Given the description of an element on the screen output the (x, y) to click on. 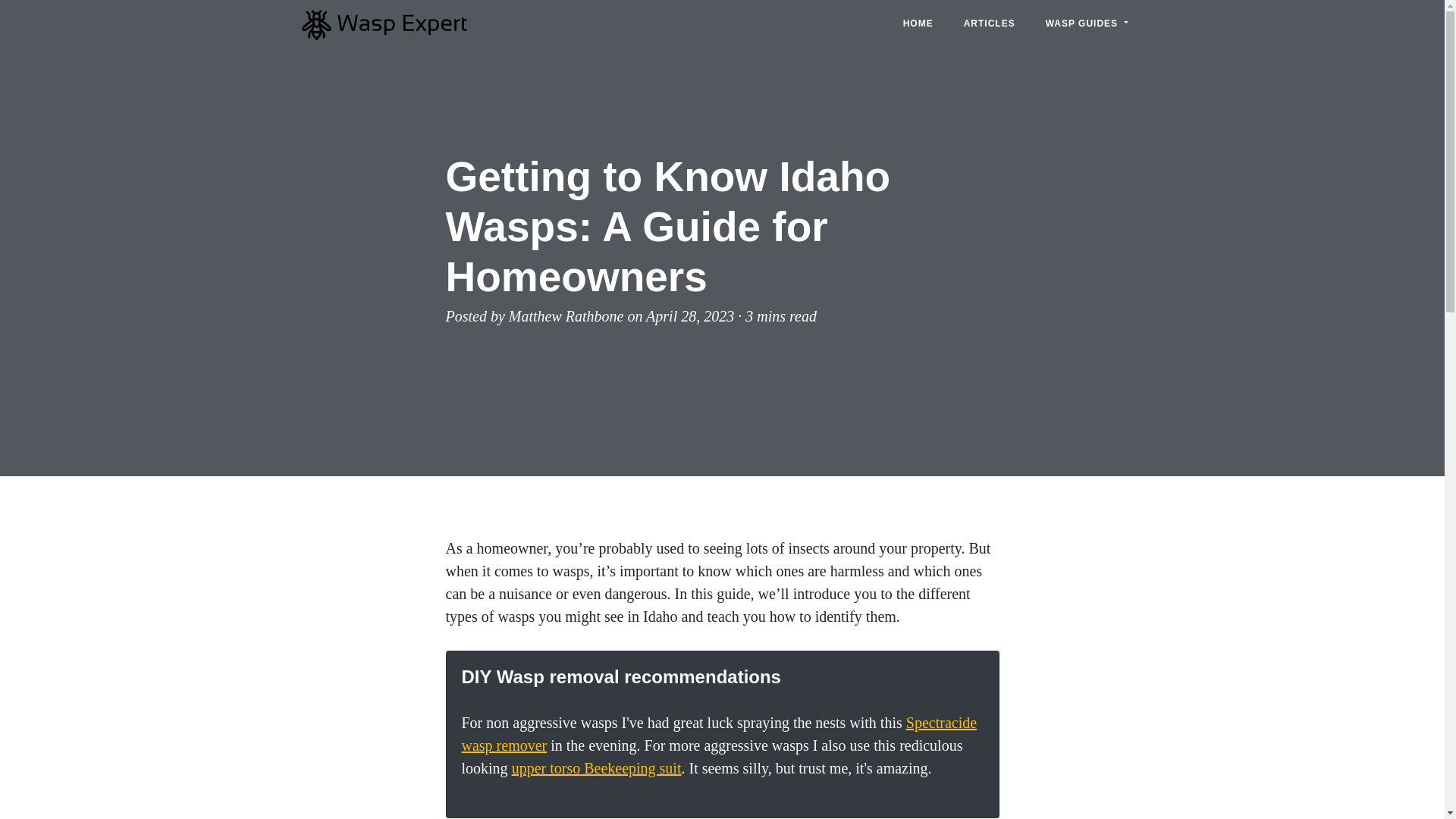
Matthew Rathbone (566, 315)
ARTICLES (989, 23)
WASP GUIDES (1086, 23)
Spectracide wasp remover (718, 733)
upper torso Beekeeping suit (596, 768)
Estimated read time (780, 315)
HOME (918, 23)
